Given the description of an element on the screen output the (x, y) to click on. 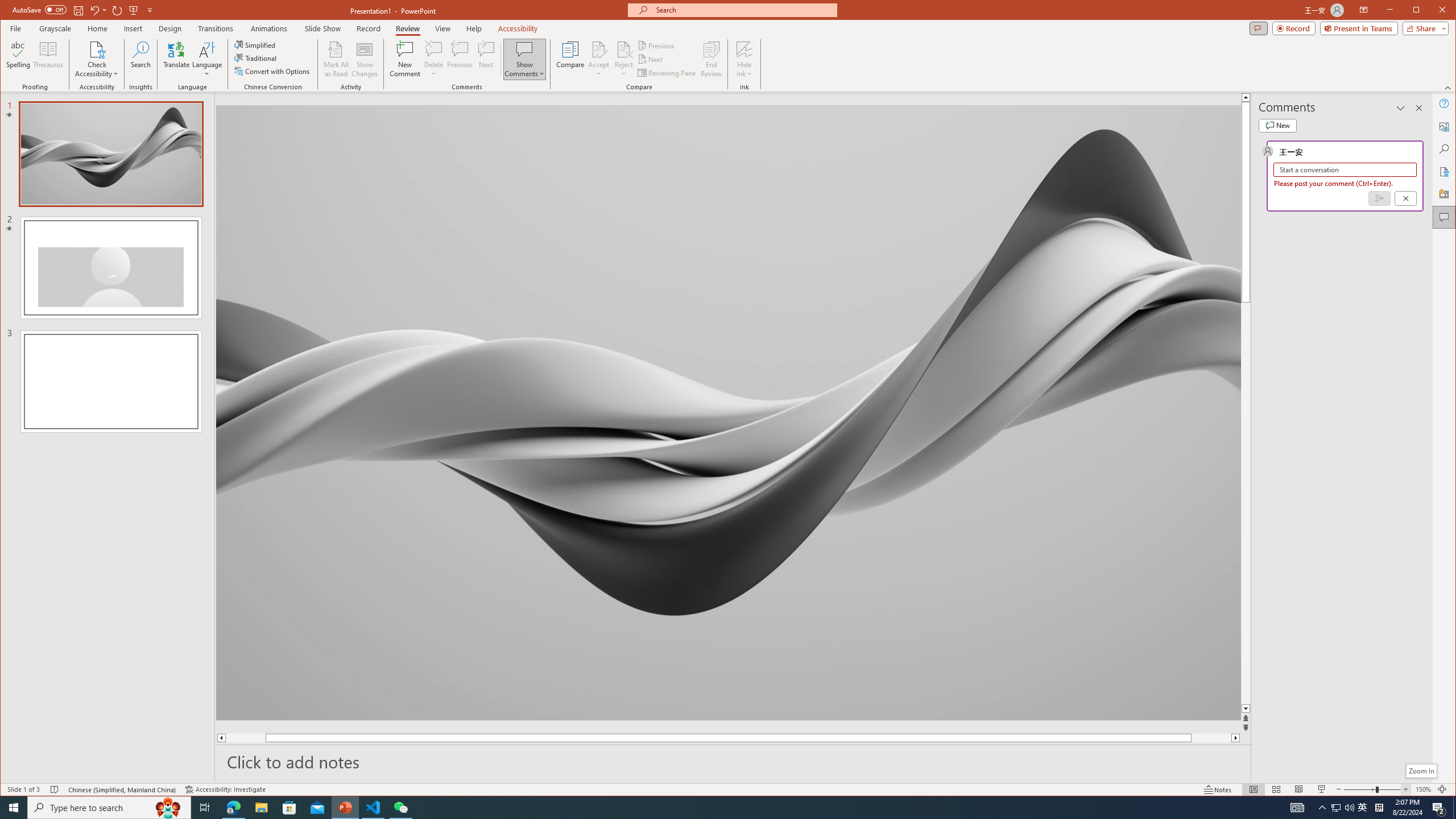
WeChat - 1 running window (400, 807)
Simplified (255, 44)
